Given the description of an element on the screen output the (x, y) to click on. 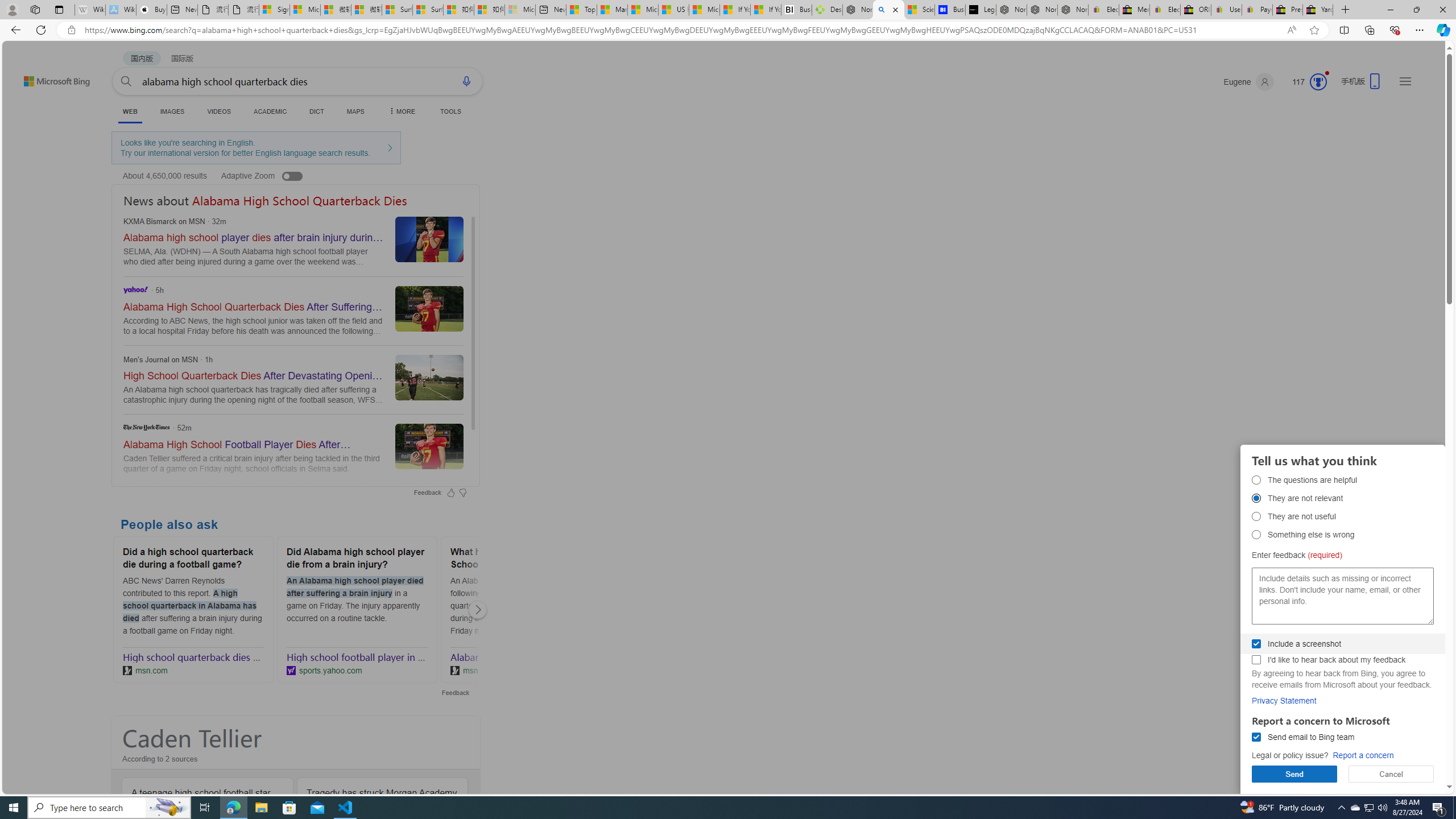
Send (1294, 773)
Payments Terms of Use | eBay.com (1256, 9)
AutomationID: fbpgdgsschk (1256, 643)
US Heat Deaths Soared To Record High Last Year (673, 9)
